Given the description of an element on the screen output the (x, y) to click on. 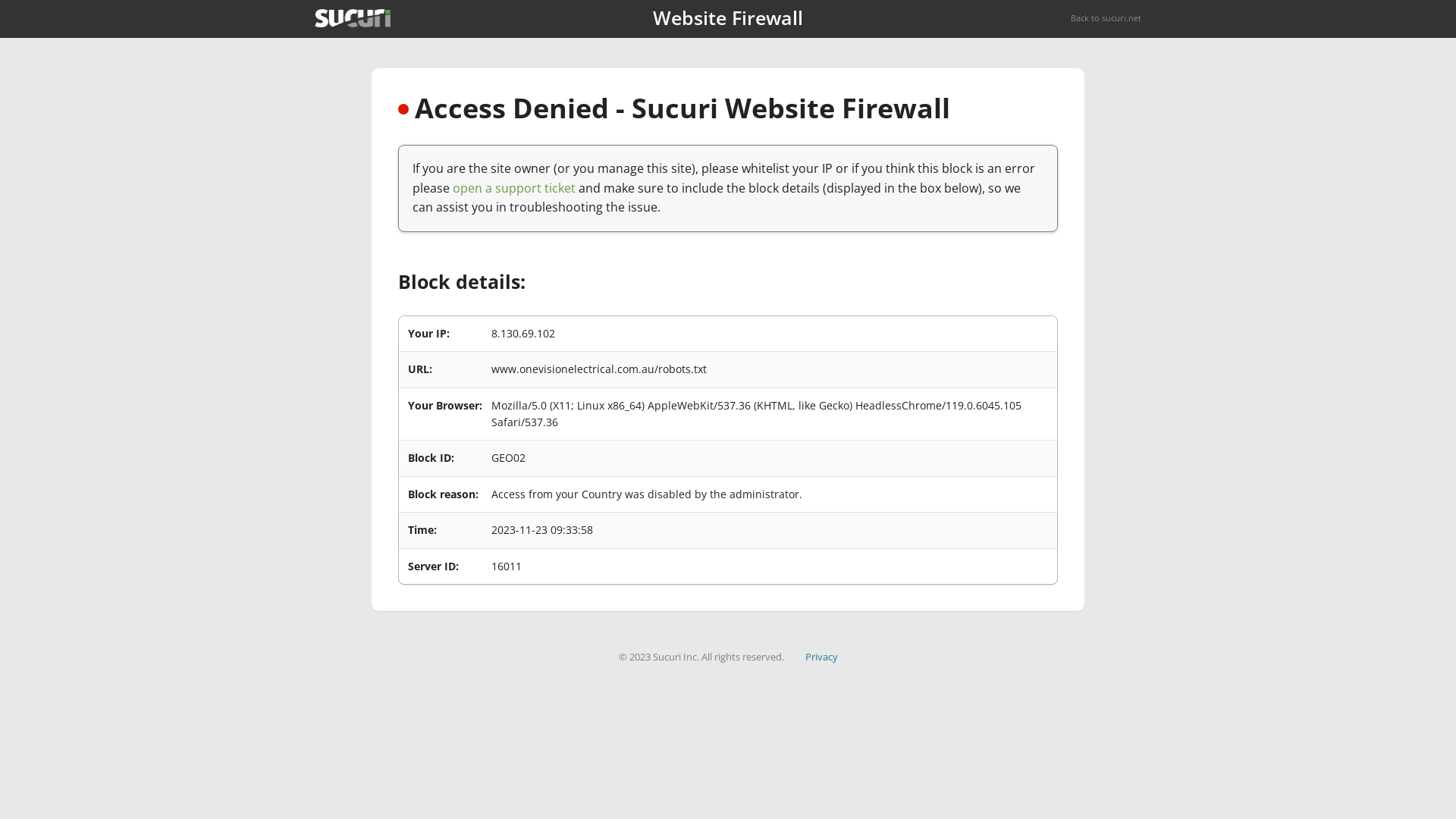
Privacy Element type: text (821, 656)
open a support ticket Element type: text (513, 187)
Back to sucuri.net Element type: text (1105, 18)
